Given the description of an element on the screen output the (x, y) to click on. 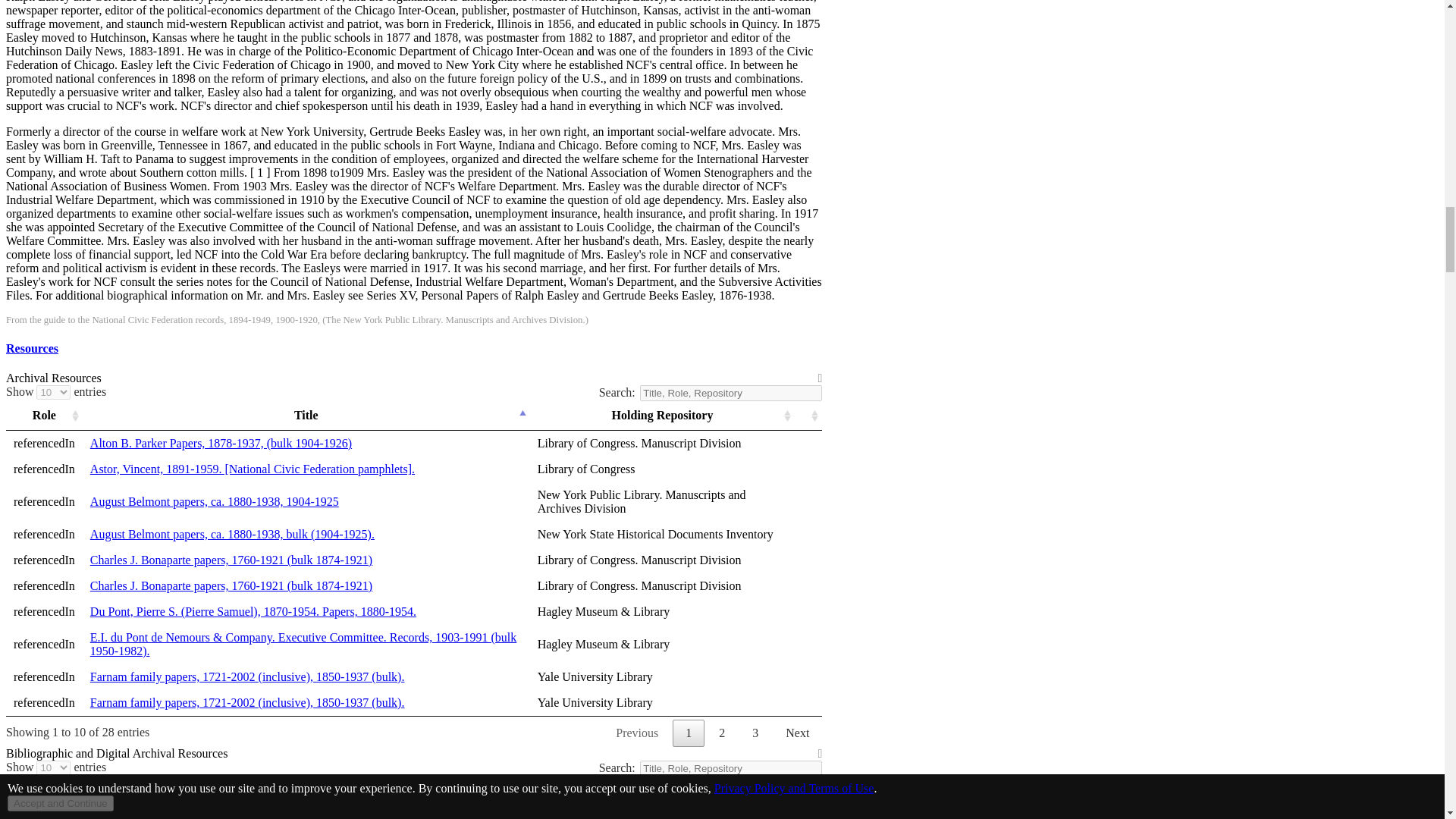
Resources (31, 348)
August Belmont papers, ca. 1880-1938, 1904-1925 (214, 501)
